Given the description of an element on the screen output the (x, y) to click on. 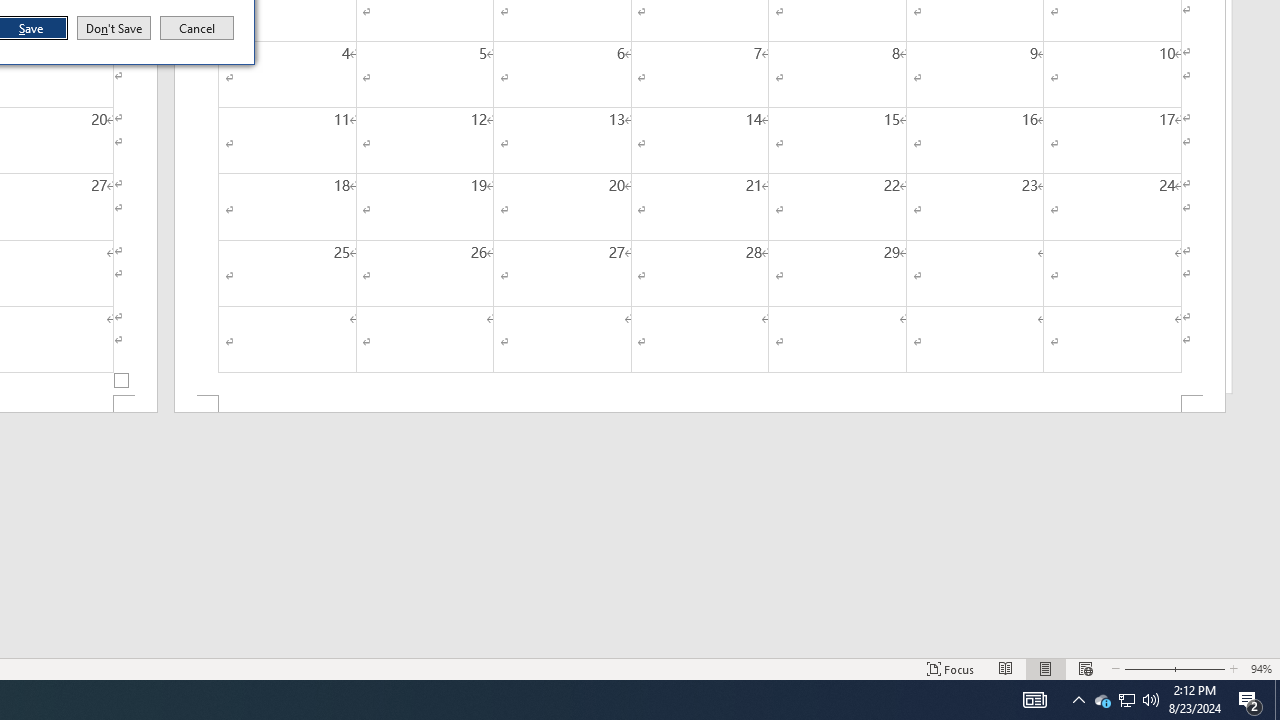
Don't Save (113, 27)
Footer -Section 2- (700, 404)
Cancel (197, 27)
